Given the description of an element on the screen output the (x, y) to click on. 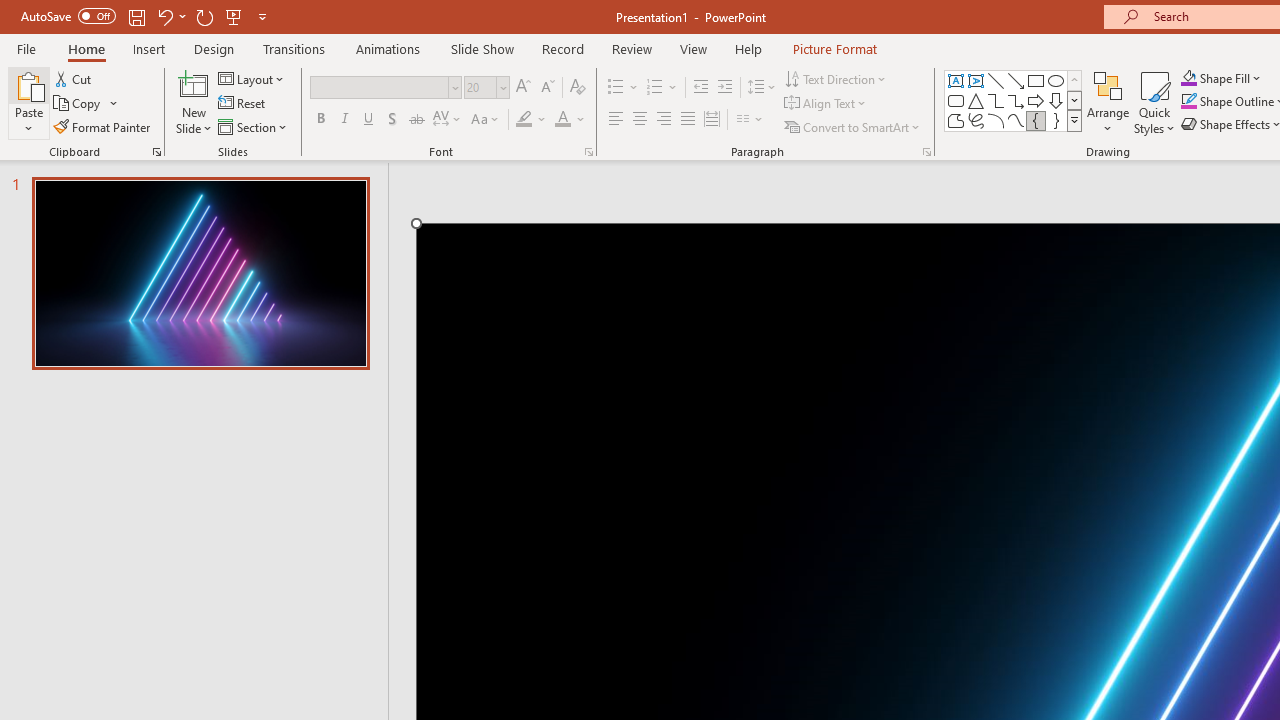
Shape Fill Orange, Accent 2 (1188, 78)
